Given the description of an element on the screen output the (x, y) to click on. 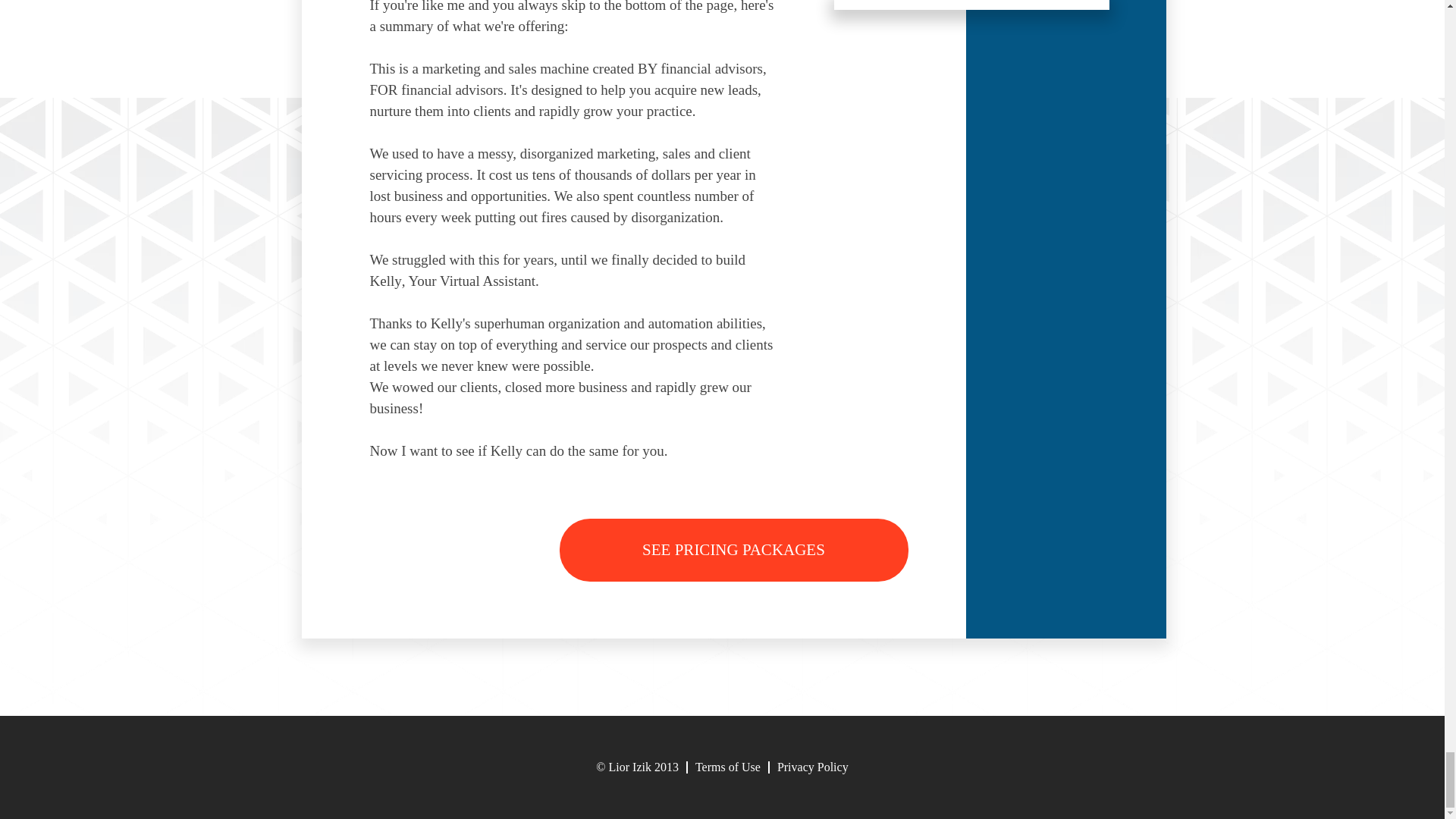
SEE PRICING PACKAGES (733, 549)
Terms of Use (727, 766)
Privacy Policy (812, 766)
